Given the description of an element on the screen output the (x, y) to click on. 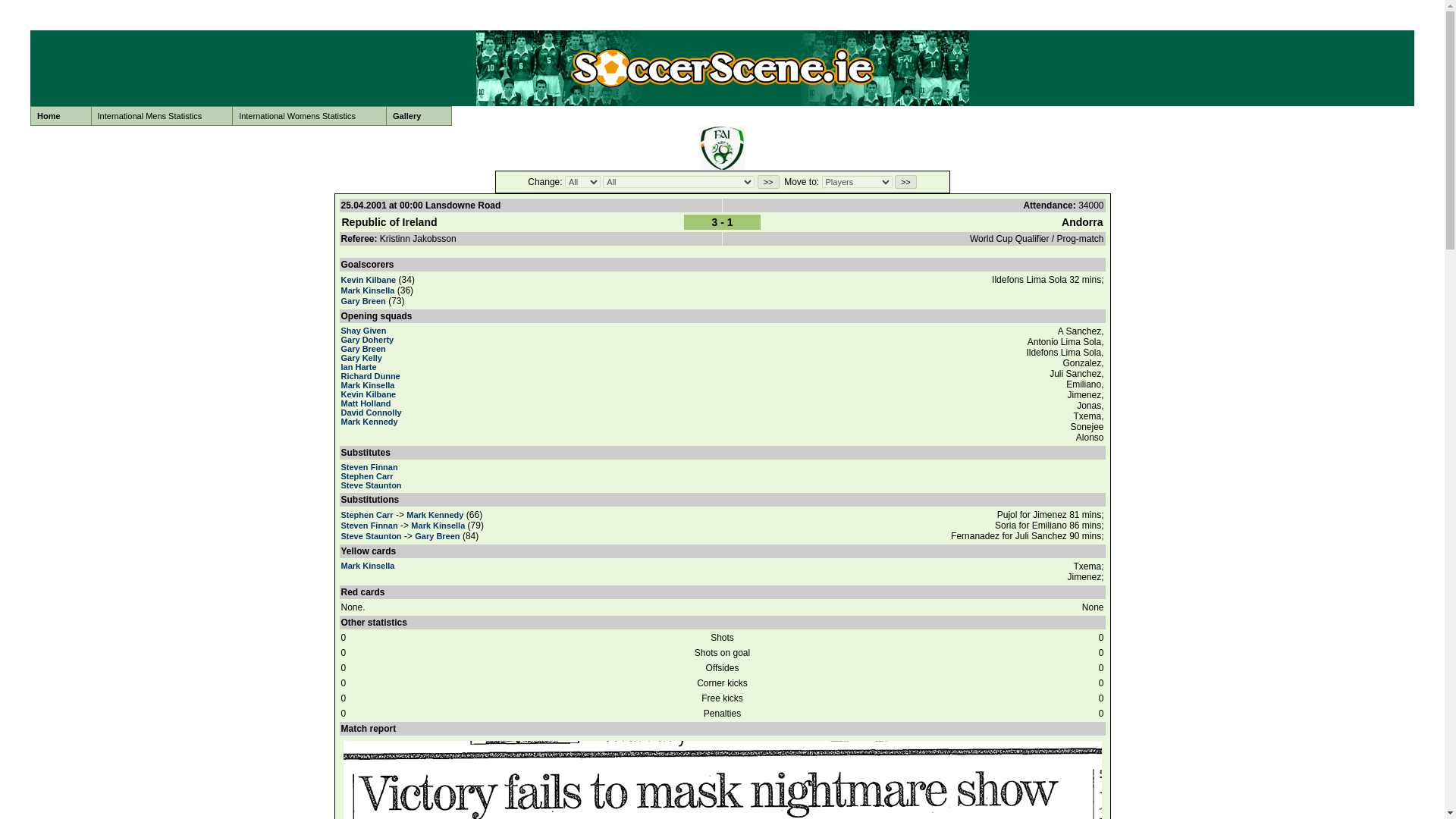
International Womens Statistics (309, 116)
Home (60, 116)
International Mens Statistics (161, 116)
